Given the description of an element on the screen output the (x, y) to click on. 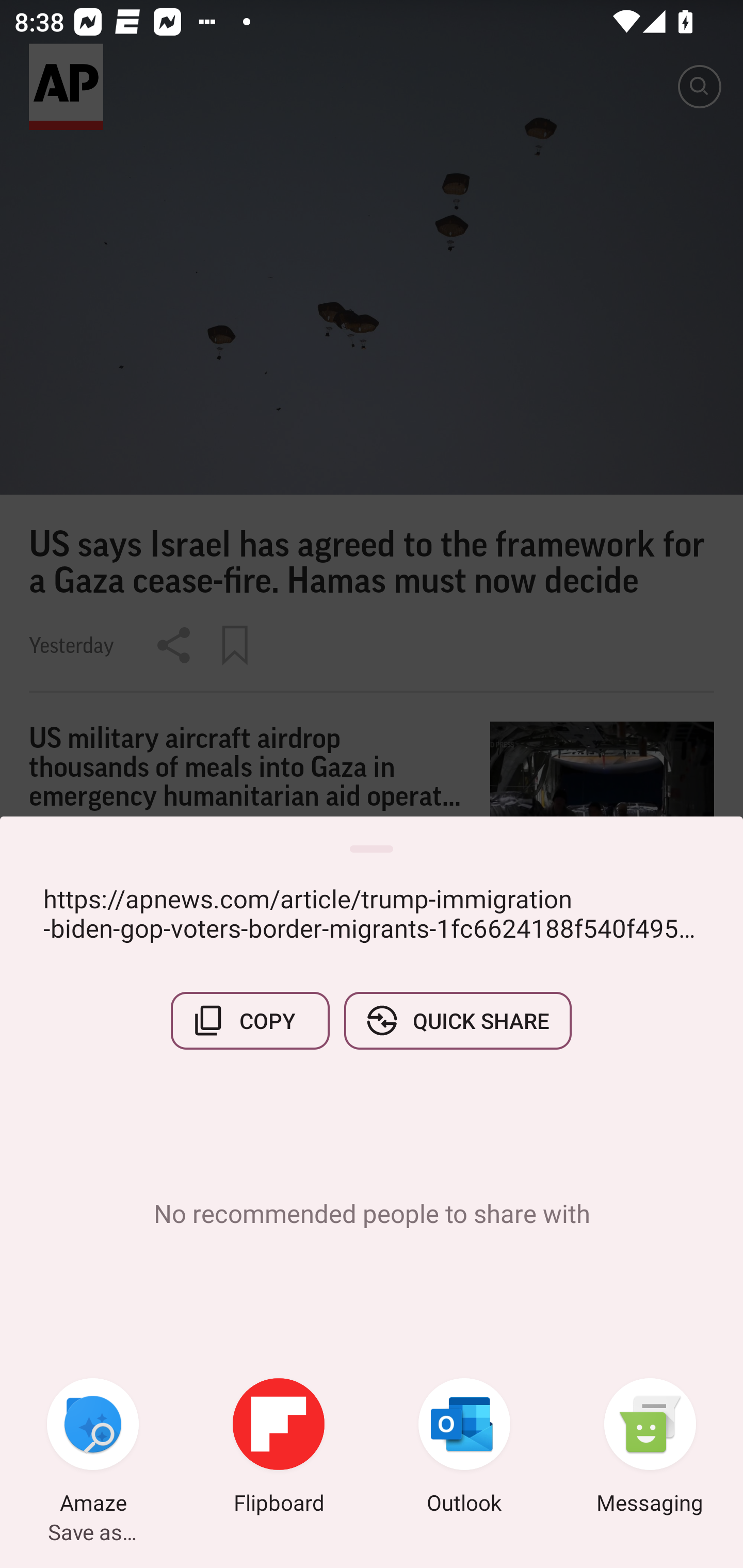
COPY (249, 1020)
QUICK SHARE (457, 1020)
Amaze Save as… (92, 1448)
Flipboard (278, 1448)
Outlook (464, 1448)
Messaging (650, 1448)
